Given the description of an element on the screen output the (x, y) to click on. 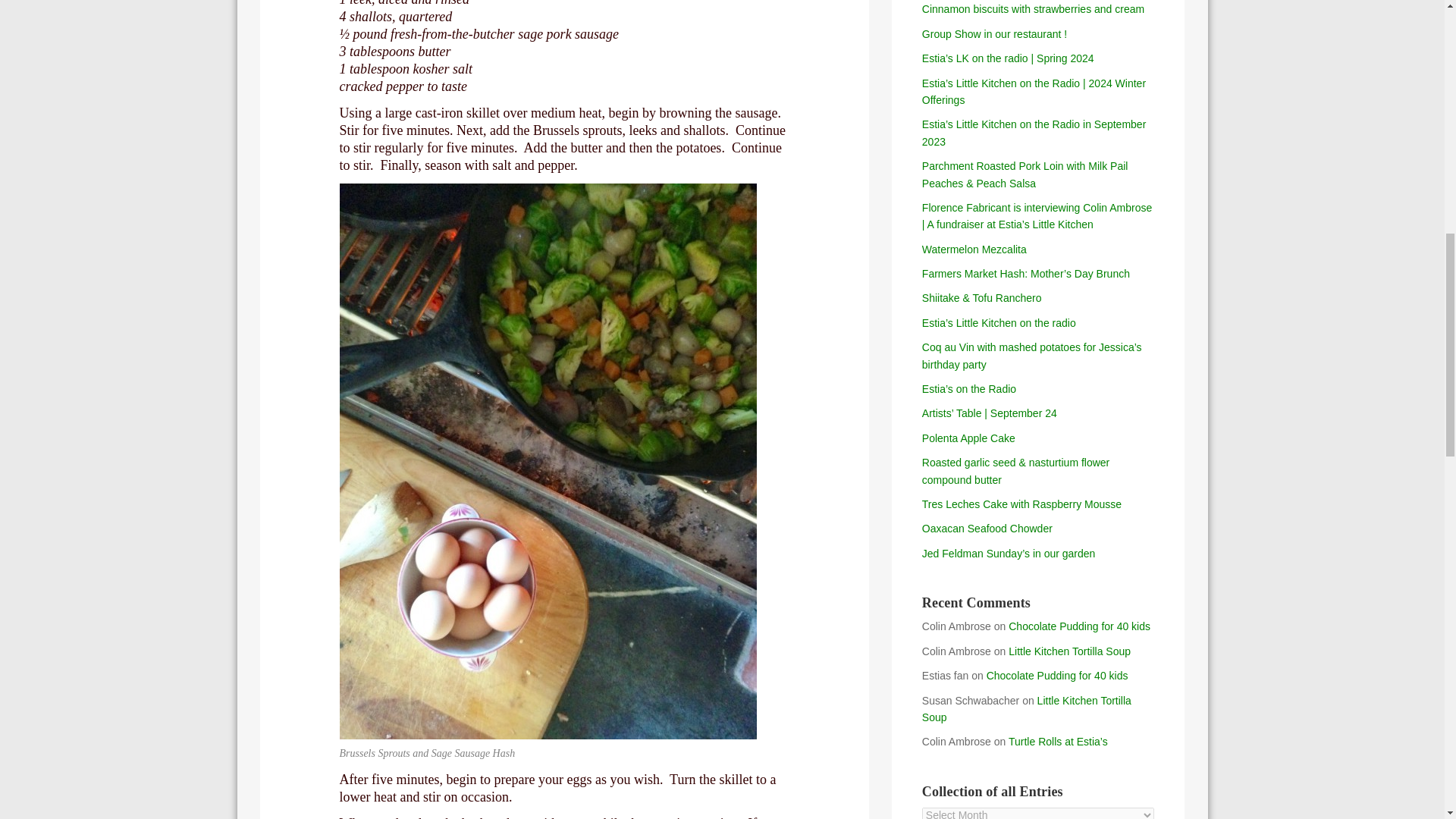
Oaxacan Seafood Chowder (986, 528)
Cinnamon biscuits with strawberries and cream (1032, 9)
Polenta Apple Cake (967, 438)
Group Show in our restaurant ! (994, 33)
Little Kitchen Tortilla Soup (1026, 708)
Chocolate Pudding for 40 kids (1057, 675)
Tres Leches Cake with Raspberry Mousse (1021, 503)
Watermelon Mezcalita (973, 249)
Little Kitchen Tortilla Soup (1070, 651)
Chocolate Pudding for 40 kids (1079, 625)
